Given the description of an element on the screen output the (x, y) to click on. 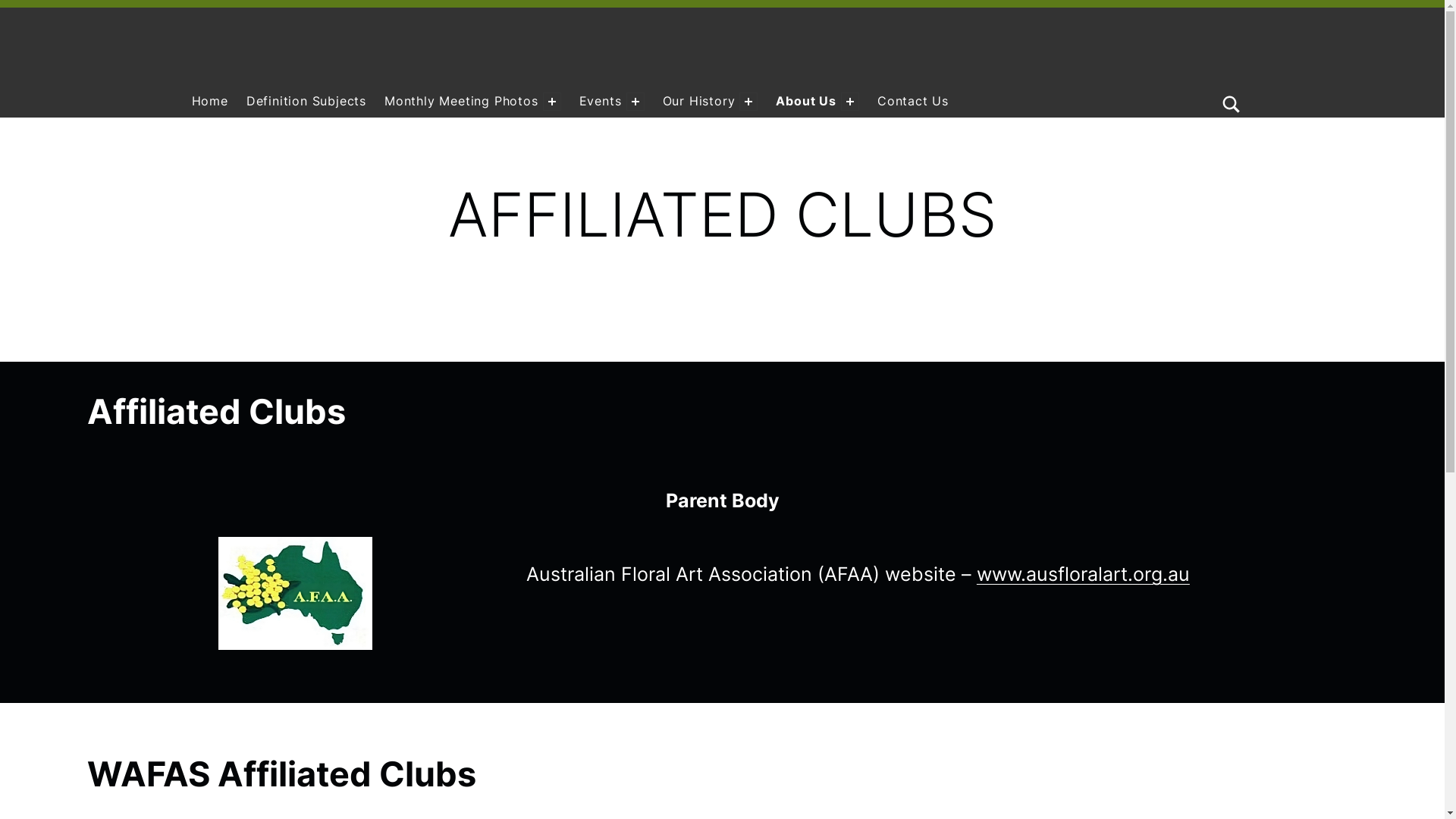
Definition Subjects Element type: text (306, 101)
Monthly Meeting Photos Element type: text (463, 101)
Our History Element type: text (701, 101)
Home Element type: text (209, 101)
Contact Us Element type: text (912, 101)
Events Element type: text (602, 101)
TOGGLE SEARCH FORM MODAL BOX Element type: text (1231, 81)
About Us Element type: text (807, 101)
www.ausfloralart.org.au Element type: text (1082, 573)
